Given the description of an element on the screen output the (x, y) to click on. 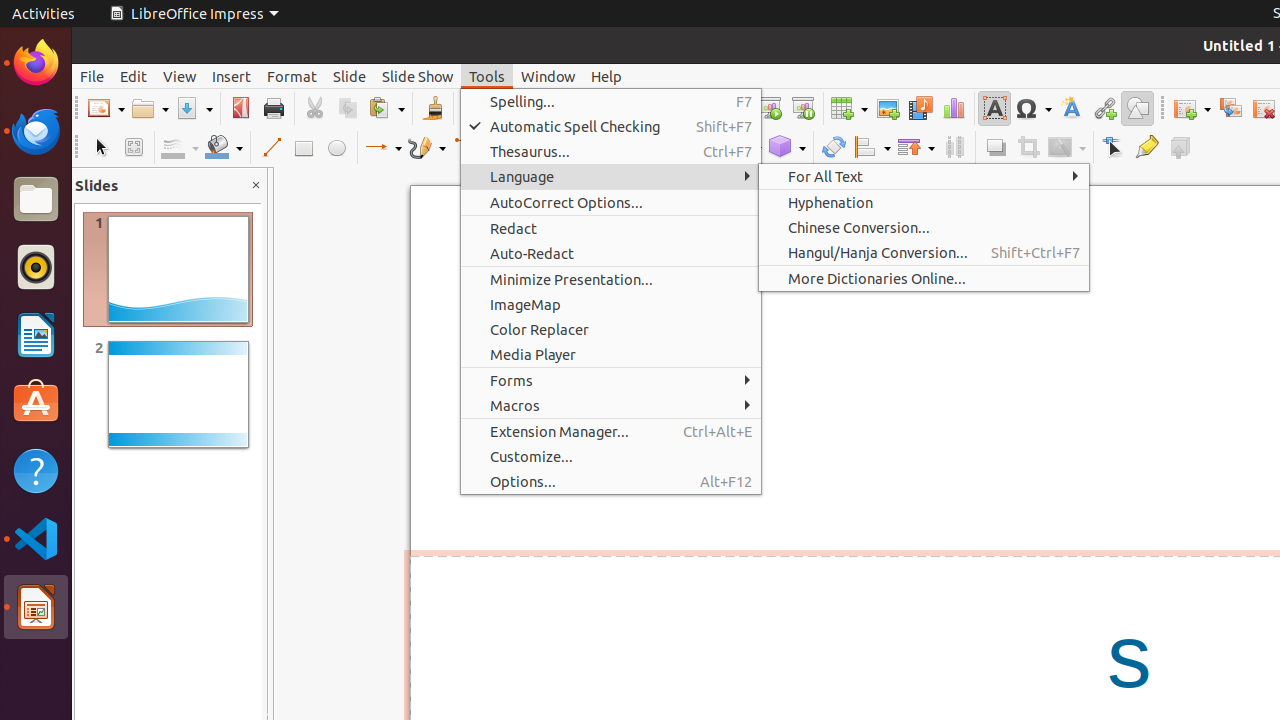
More Dictionaries Online... Element type: menu-item (924, 278)
Language Element type: menu (611, 176)
Spelling... Element type: menu-item (611, 101)
Lines and Arrows Element type: push-button (383, 147)
